Given the description of an element on the screen output the (x, y) to click on. 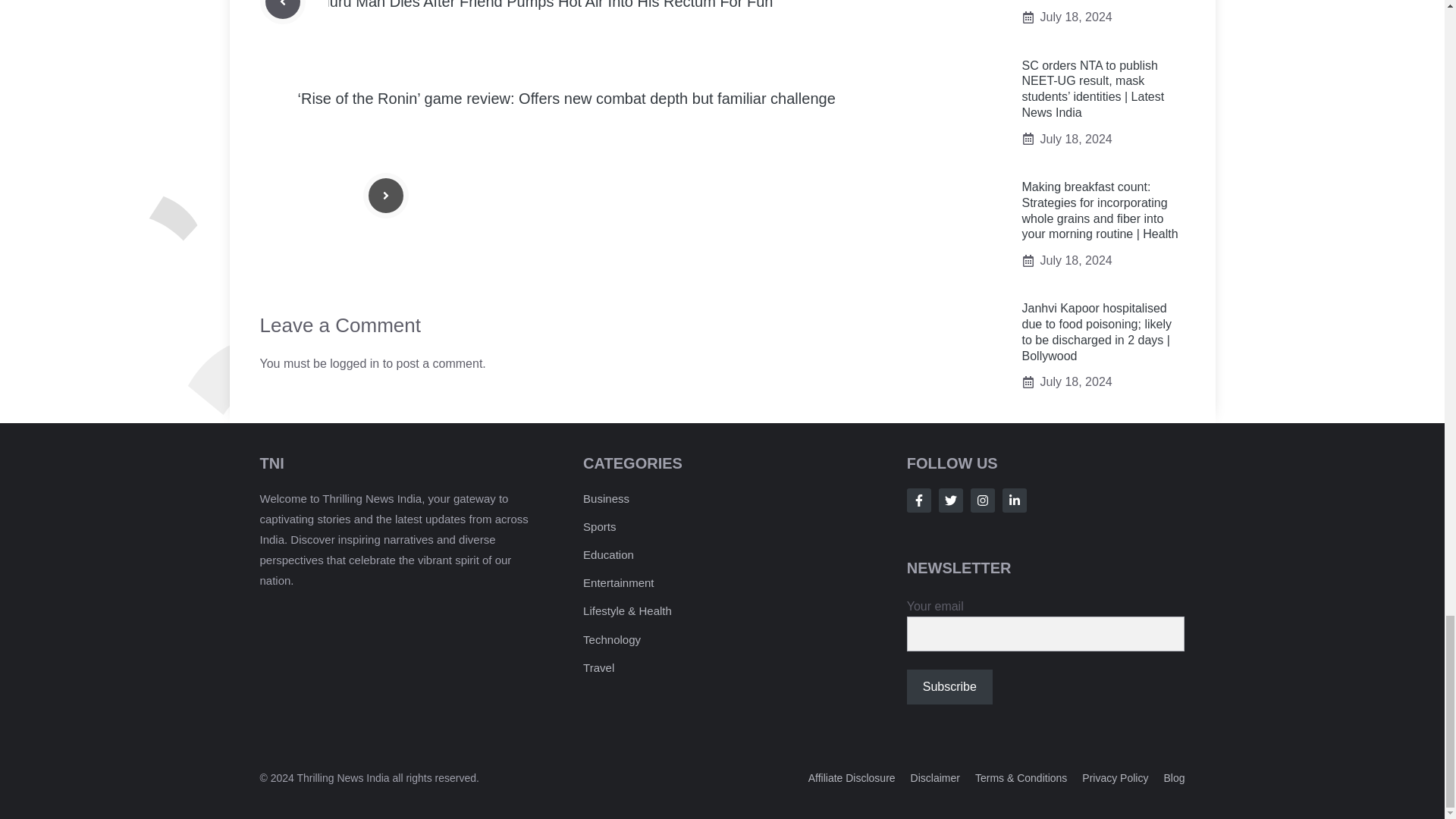
Subscribe (949, 686)
Education (608, 554)
Business (605, 498)
logged in (354, 363)
Sports (599, 526)
Entertainment (618, 582)
